Given the description of an element on the screen output the (x, y) to click on. 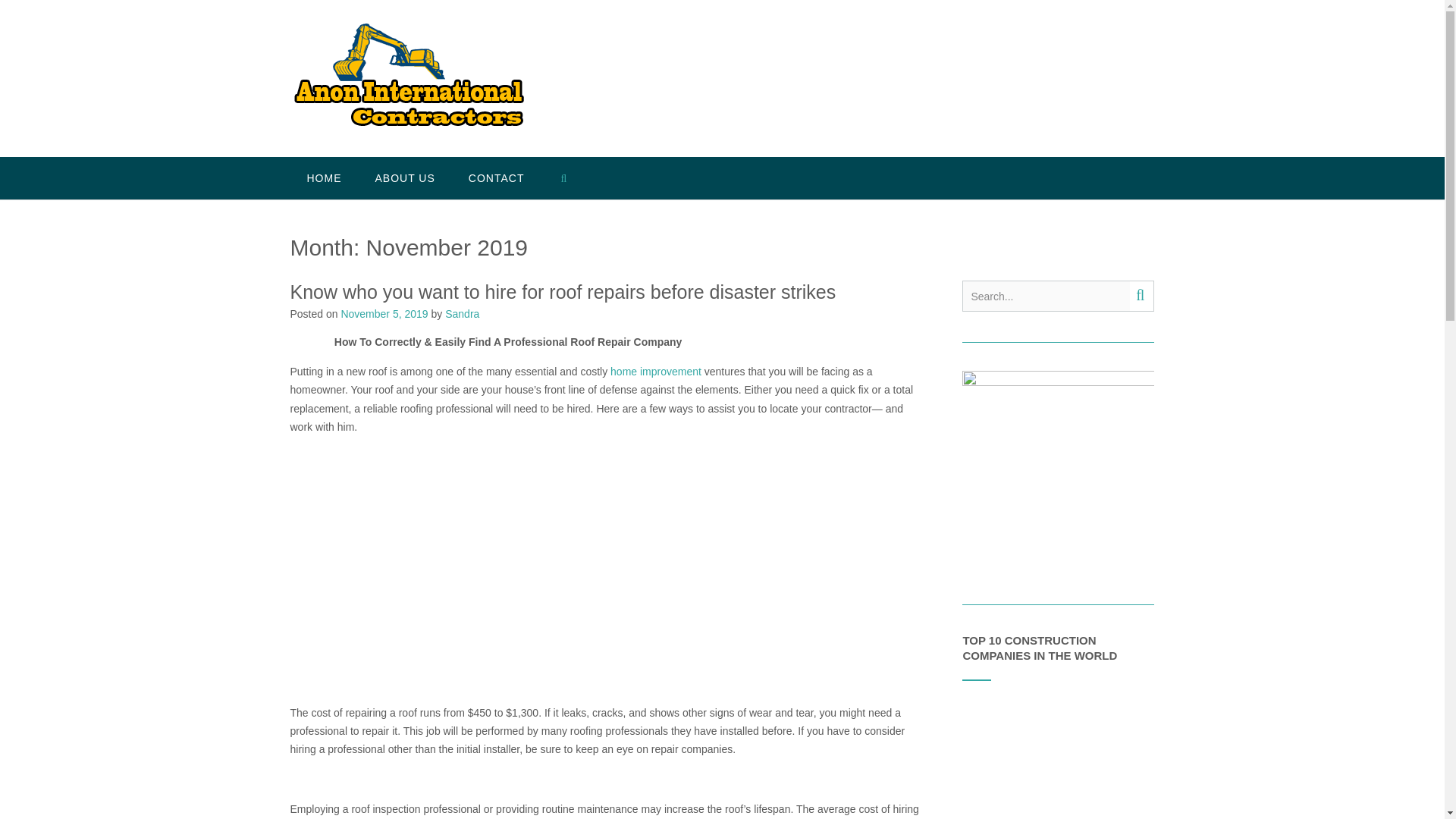
November 5, 2019 (384, 313)
home improvement (655, 371)
HOME (323, 178)
Search for: (1045, 296)
Anon International Contractors -  (410, 79)
CONTACT (496, 178)
Sandra (462, 313)
ABOUT US (404, 178)
